Given the description of an element on the screen output the (x, y) to click on. 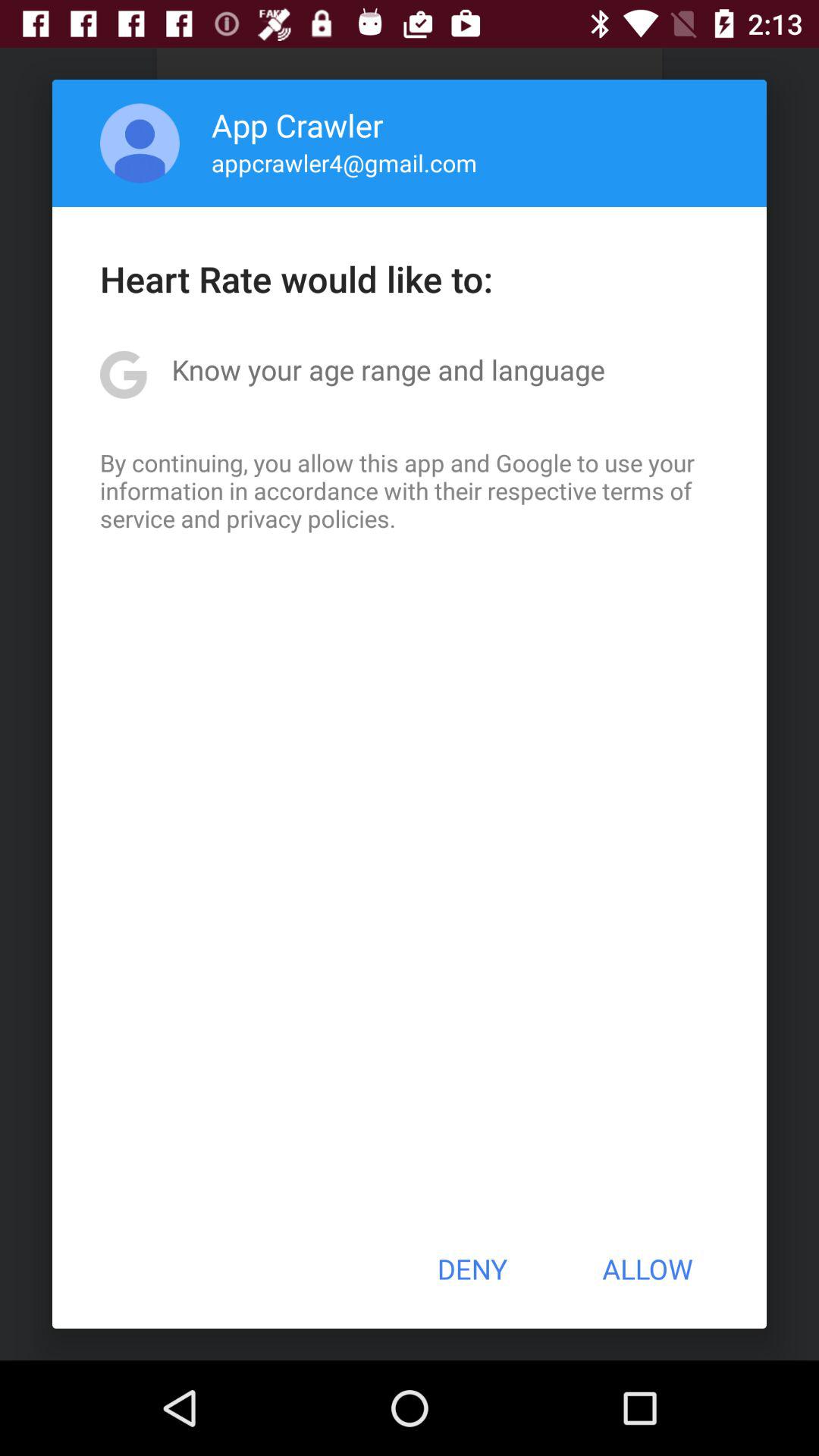
choose the icon below the by continuing you app (471, 1268)
